Given the description of an element on the screen output the (x, y) to click on. 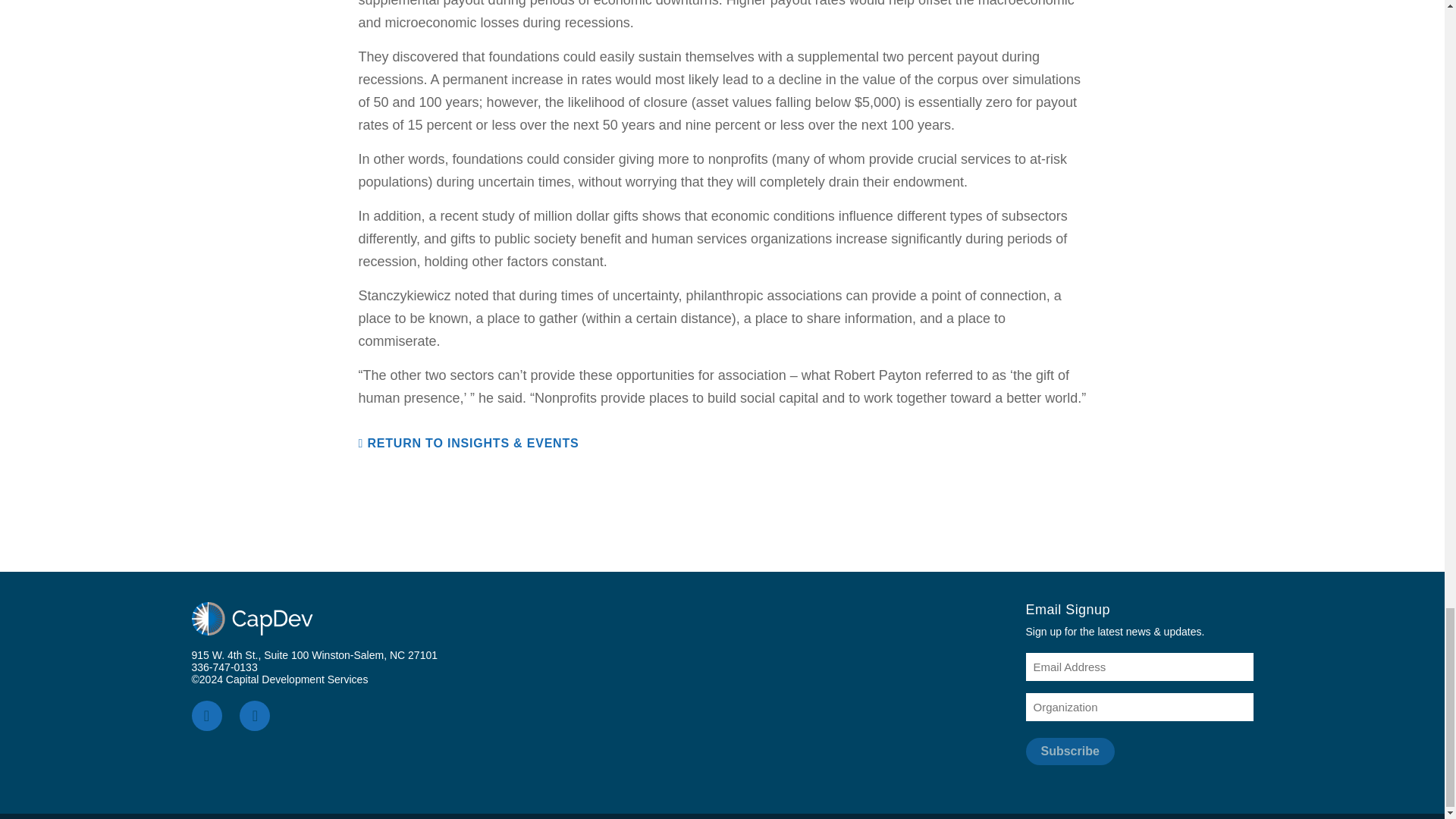
Subscribe (1069, 750)
336-747-0133 (223, 666)
Subscribe (1069, 750)
